Given the description of an element on the screen output the (x, y) to click on. 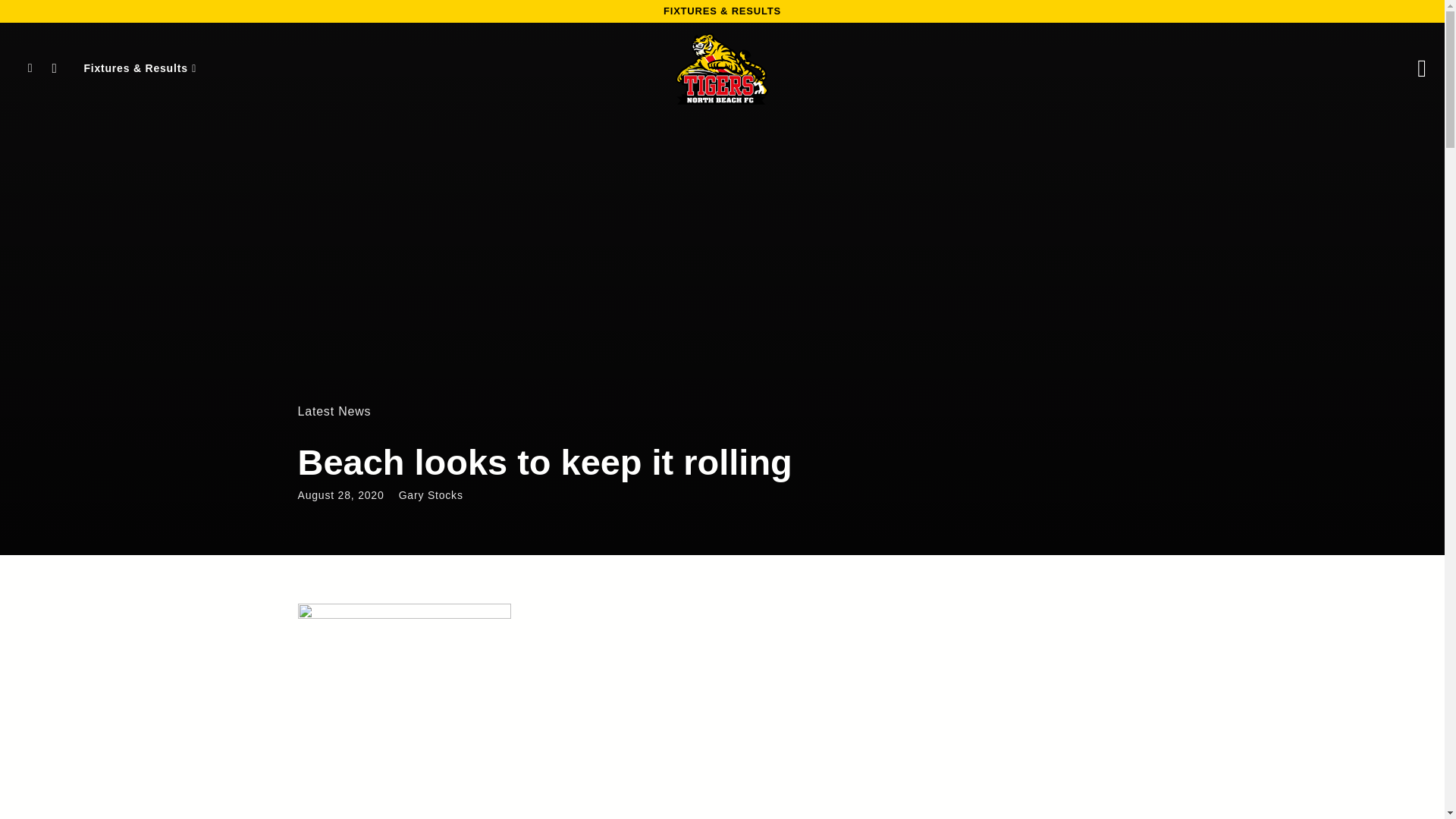
Facebook (29, 68)
Instagram (54, 68)
